Given the description of an element on the screen output the (x, y) to click on. 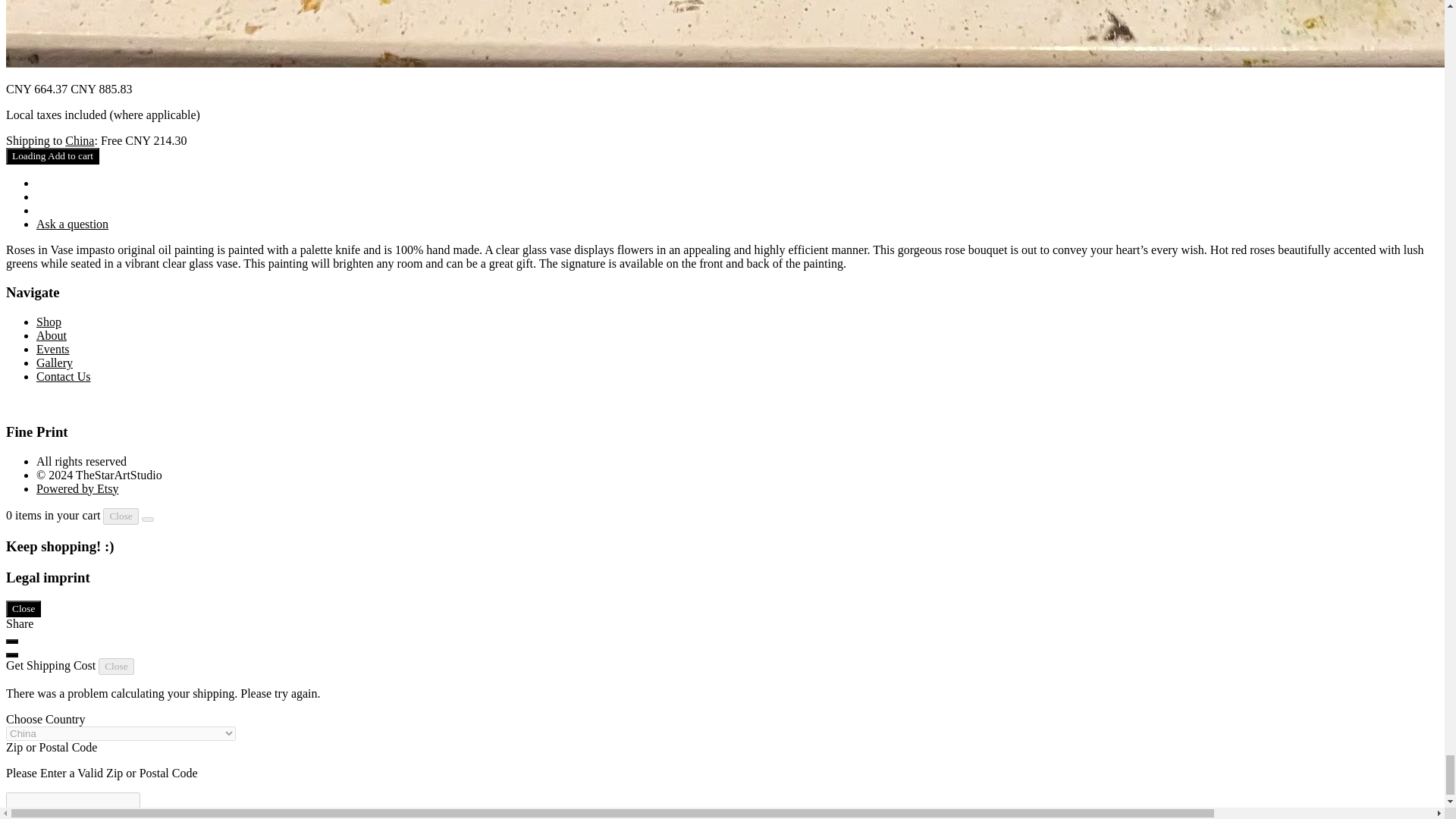
About (51, 335)
Ask a question (71, 223)
Close (116, 666)
Close (22, 608)
Contact Us (63, 376)
Loading Add to cart (52, 156)
Events (52, 349)
Close (120, 515)
China (79, 140)
Gallery (54, 362)
